Given the description of an element on the screen output the (x, y) to click on. 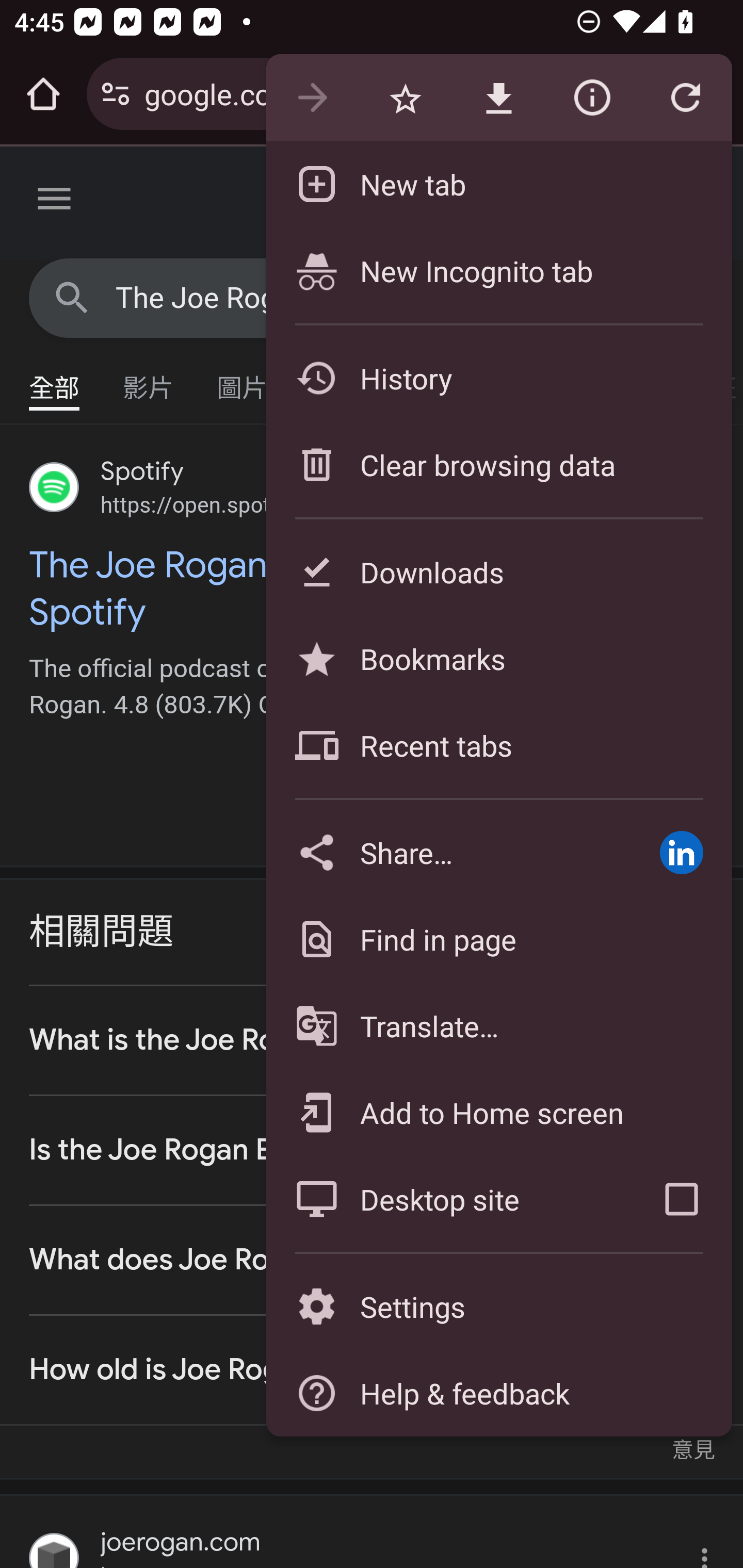
Forward (311, 97)
Bookmark (404, 97)
Download (498, 97)
Page info (591, 97)
Refresh (684, 97)
New tab (498, 184)
New Incognito tab (498, 270)
History (498, 377)
Clear browsing data (498, 464)
Downloads (498, 571)
Bookmarks (498, 658)
Recent tabs (498, 745)
Share… (447, 852)
Share via Share in a post (680, 852)
Find in page (498, 939)
Translate… (498, 1026)
Add to Home screen (498, 1112)
Desktop site Turn on Request desktop site (447, 1198)
Settings (498, 1306)
Help & feedback (498, 1393)
